Given the description of an element on the screen output the (x, y) to click on. 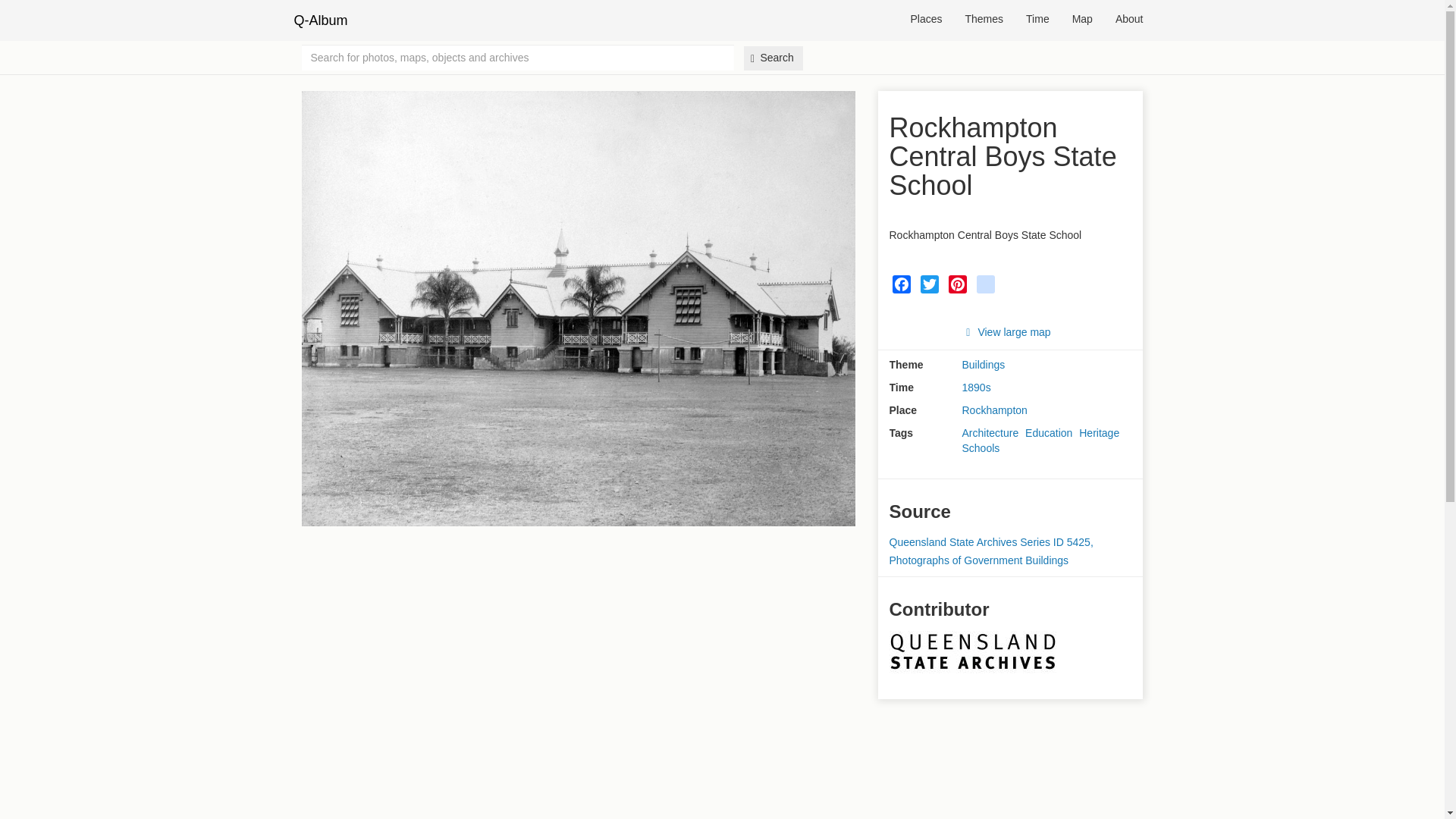
Schools (979, 448)
Time (1037, 20)
Education (1048, 432)
View large map (1007, 332)
Architecture (988, 432)
instagram (985, 283)
Places (925, 20)
Themes (983, 20)
Buildings (982, 364)
Q-Album (320, 20)
Facebook (900, 283)
Rockhampton (993, 410)
1890s (975, 387)
